Given the description of an element on the screen output the (x, y) to click on. 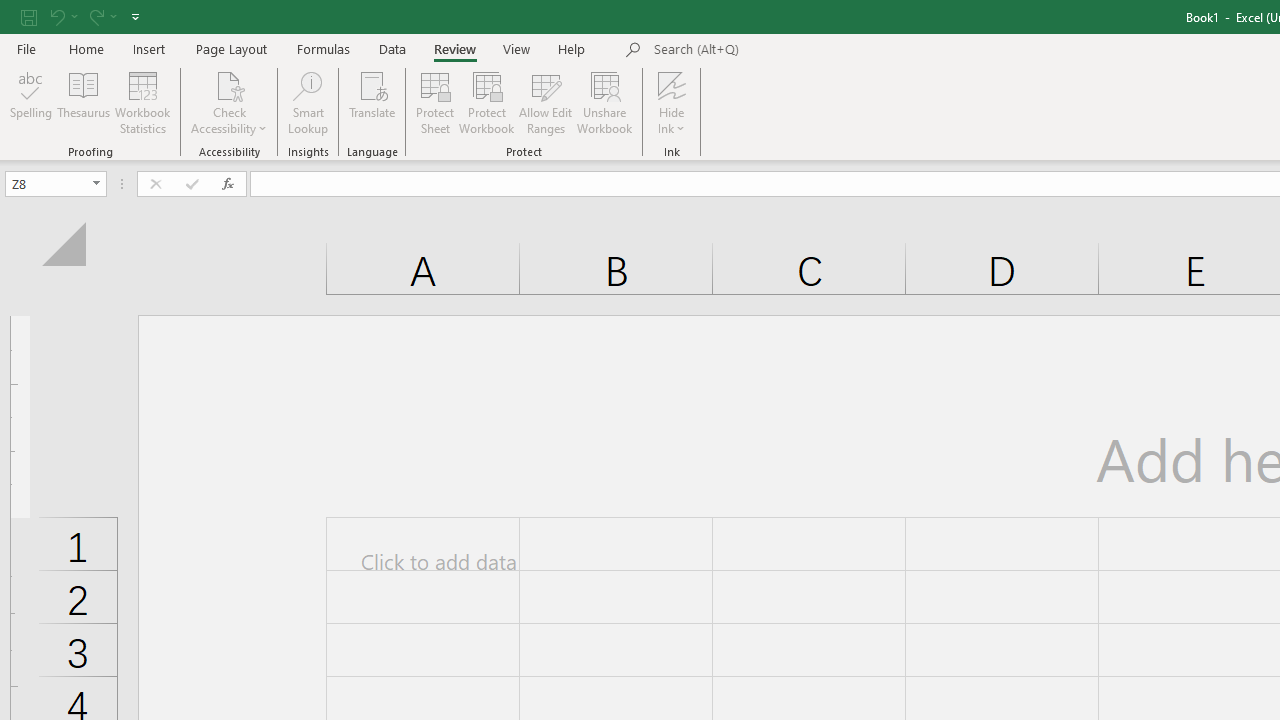
Check Accessibility (229, 102)
Insert (149, 48)
Undo (62, 15)
Check Accessibility (229, 84)
Redo (95, 15)
Open (96, 183)
File Tab (26, 48)
Name Box (56, 183)
Name Box (46, 183)
Customize Quick Access Toolbar (135, 15)
Spelling... (31, 102)
Smart Lookup (308, 102)
More Options (671, 121)
System (10, 11)
